Given the description of an element on the screen output the (x, y) to click on. 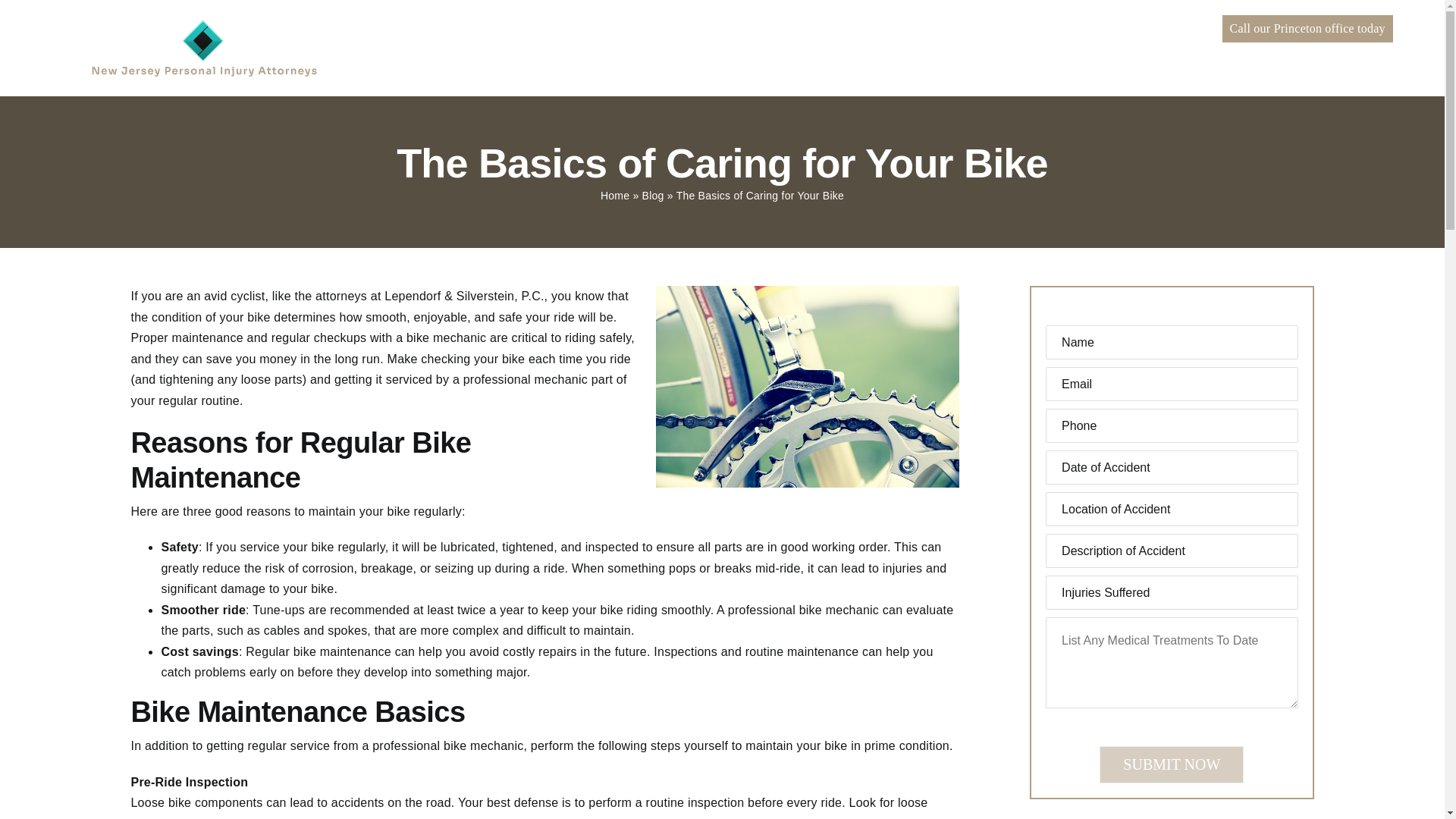
ABOUT (581, 55)
CONTACT (1087, 55)
Call our Princeton office today (1308, 28)
HOME (506, 55)
ARTICLES (999, 55)
SUCCESSES (819, 55)
REVIEWS (911, 55)
PRACTICE AREAS (696, 55)
